Given the description of an element on the screen output the (x, y) to click on. 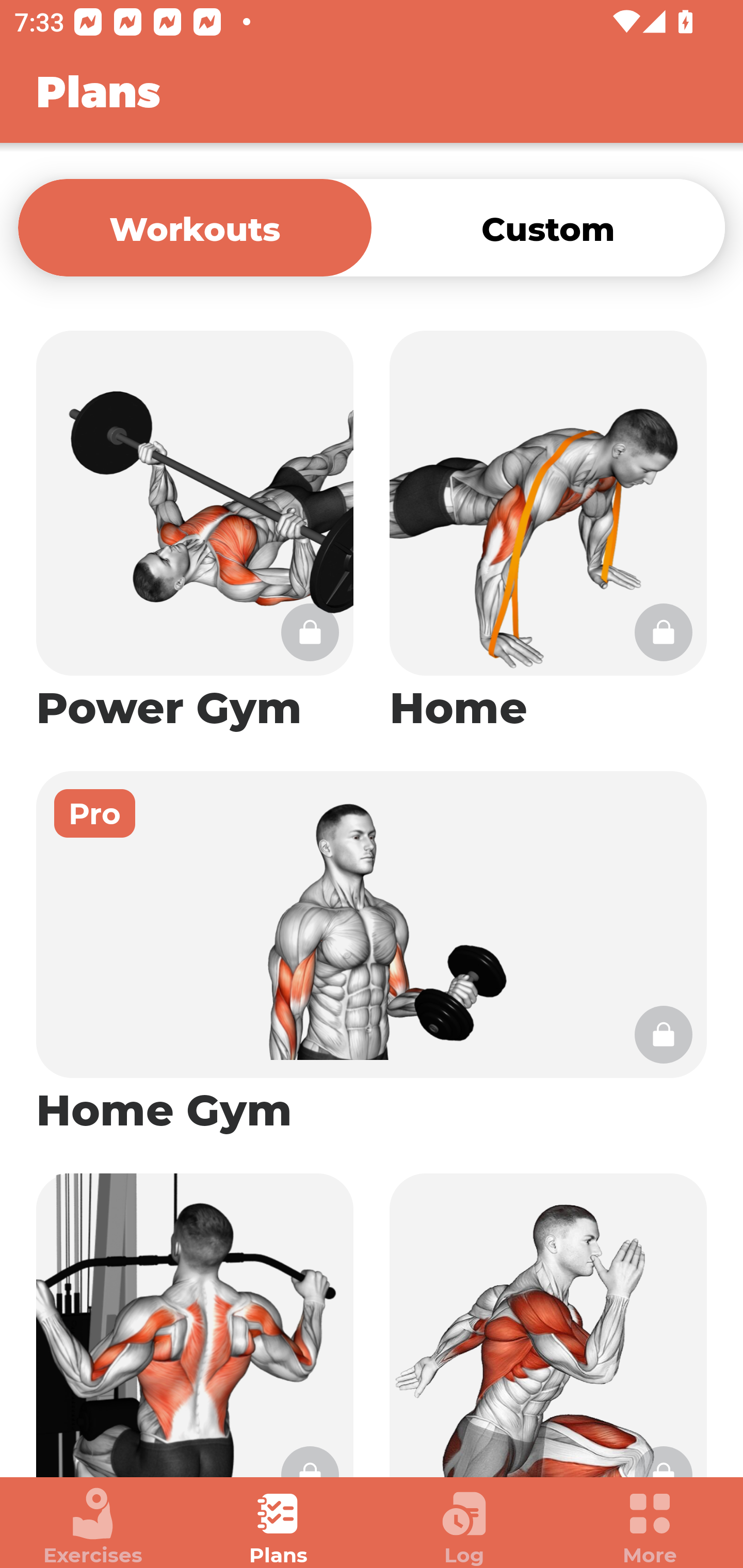
Workouts (194, 226)
Custom (548, 226)
Power Gym (194, 532)
Home (548, 532)
Pro Home Gym (371, 953)
Exercises (92, 1527)
Plans (278, 1527)
Log (464, 1527)
More (650, 1527)
